Given the description of an element on the screen output the (x, y) to click on. 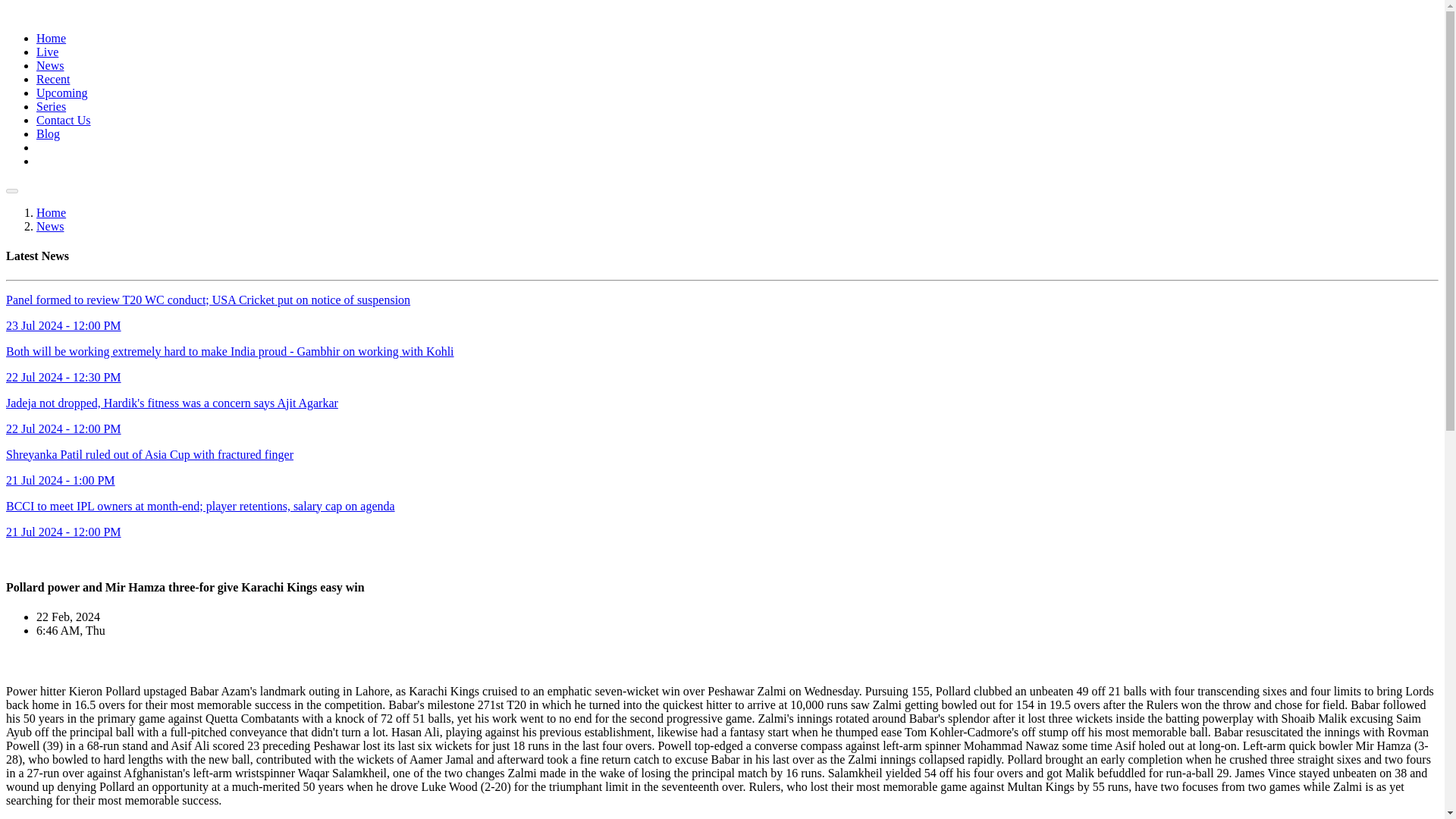
Contact Us (63, 119)
News (50, 226)
Recent (52, 78)
News (50, 65)
Home (50, 38)
Blog (47, 133)
Live (47, 51)
Upcoming (61, 92)
Home (50, 212)
Series (50, 106)
